Given the description of an element on the screen output the (x, y) to click on. 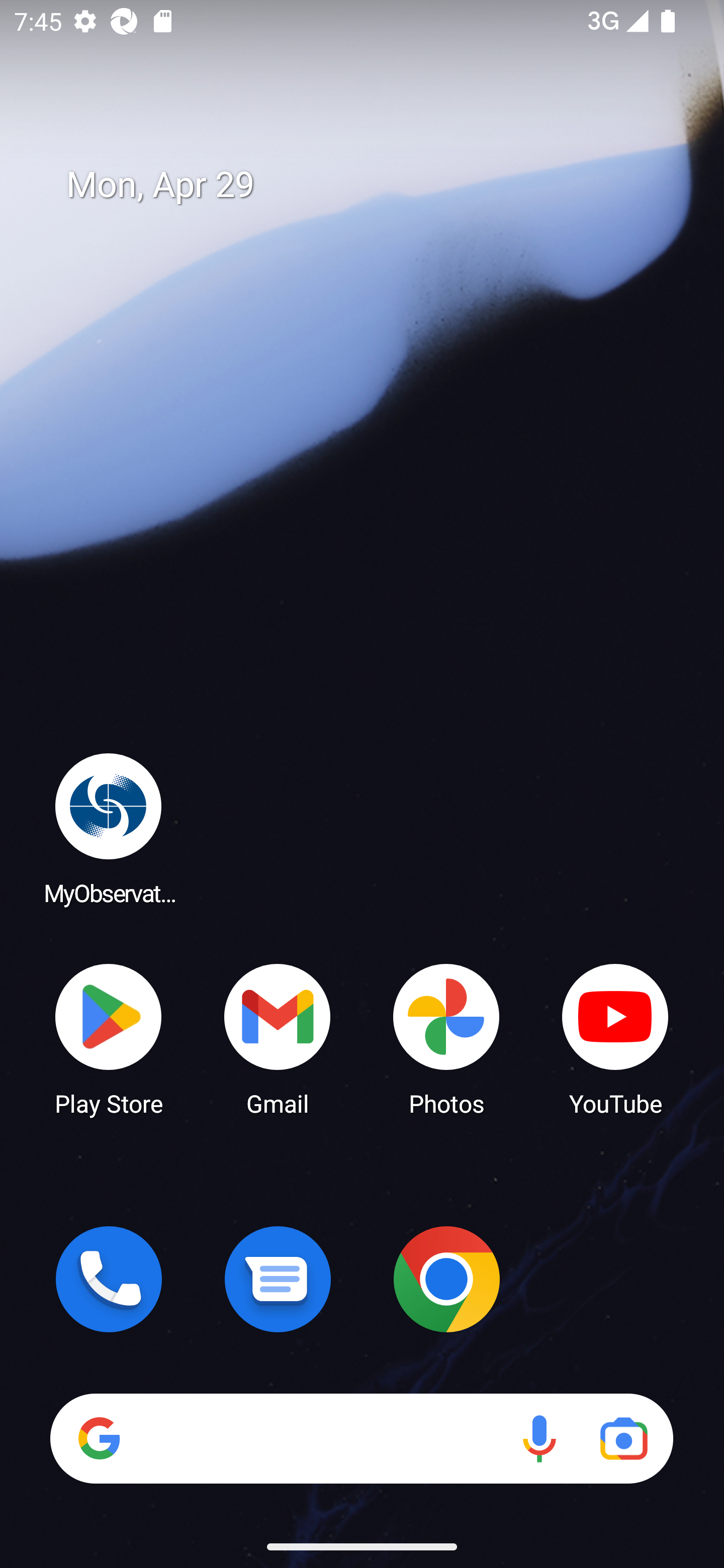
Mon, Apr 29 (375, 184)
MyObservatory (108, 828)
Play Store (108, 1038)
Gmail (277, 1038)
Photos (445, 1038)
YouTube (615, 1038)
Phone (108, 1279)
Messages (277, 1279)
Chrome (446, 1279)
Voice search (539, 1438)
Google Lens (623, 1438)
